Given the description of an element on the screen output the (x, y) to click on. 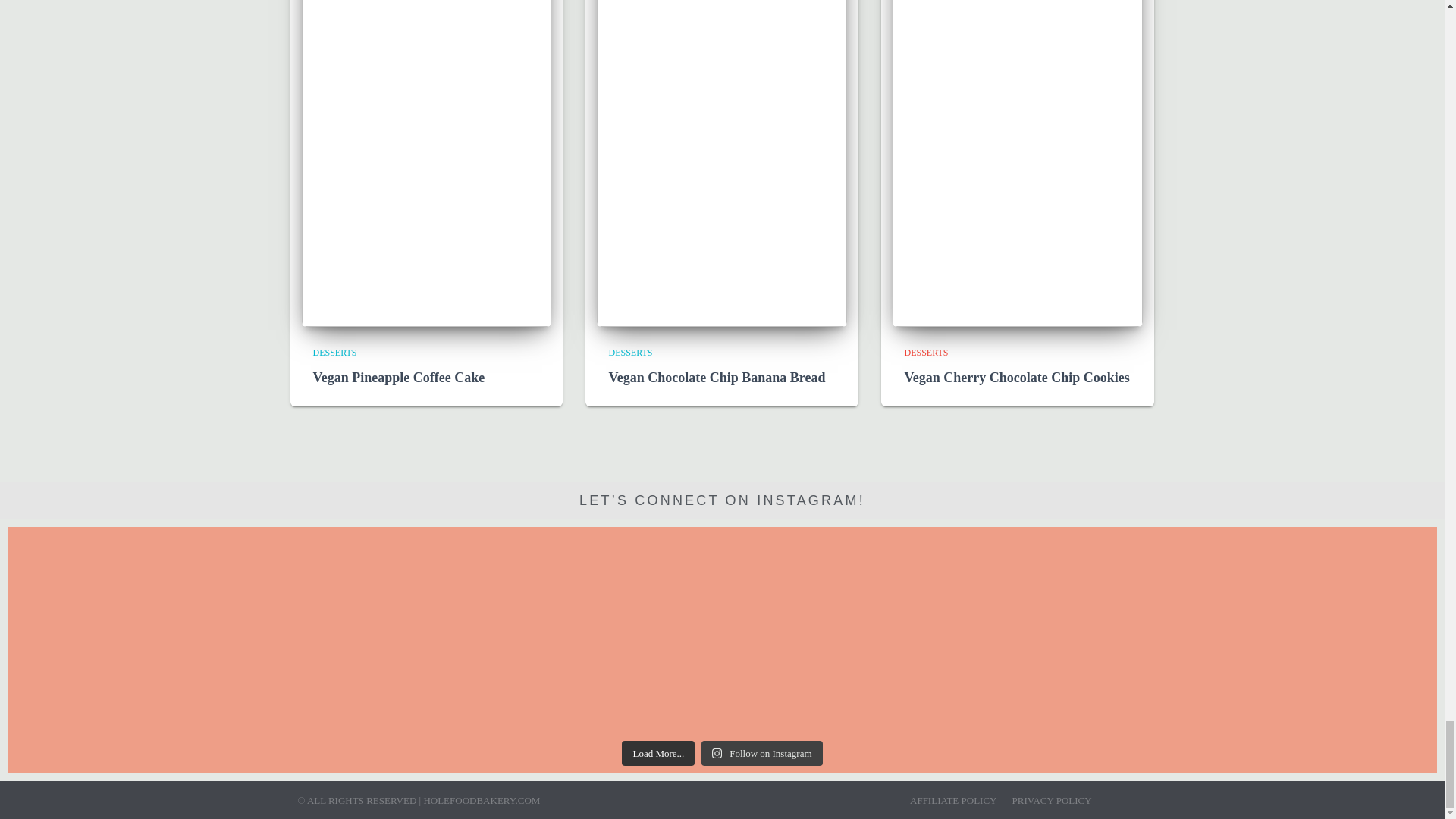
Vegan Chocolate Chip Banana Bread (721, 80)
View all posts in Desserts (925, 352)
Vegan Cherry Chocolate Chip Cookies (1017, 80)
Vegan Chocolate Chip Banana Bread (716, 377)
Vegan Pineapple Coffee Cake (398, 377)
View all posts in Desserts (630, 352)
Vegan Pineapple Coffee Cake (426, 80)
View all posts in Desserts (334, 352)
Vegan Cherry Chocolate Chip Cookies (1016, 377)
